Given the description of an element on the screen output the (x, y) to click on. 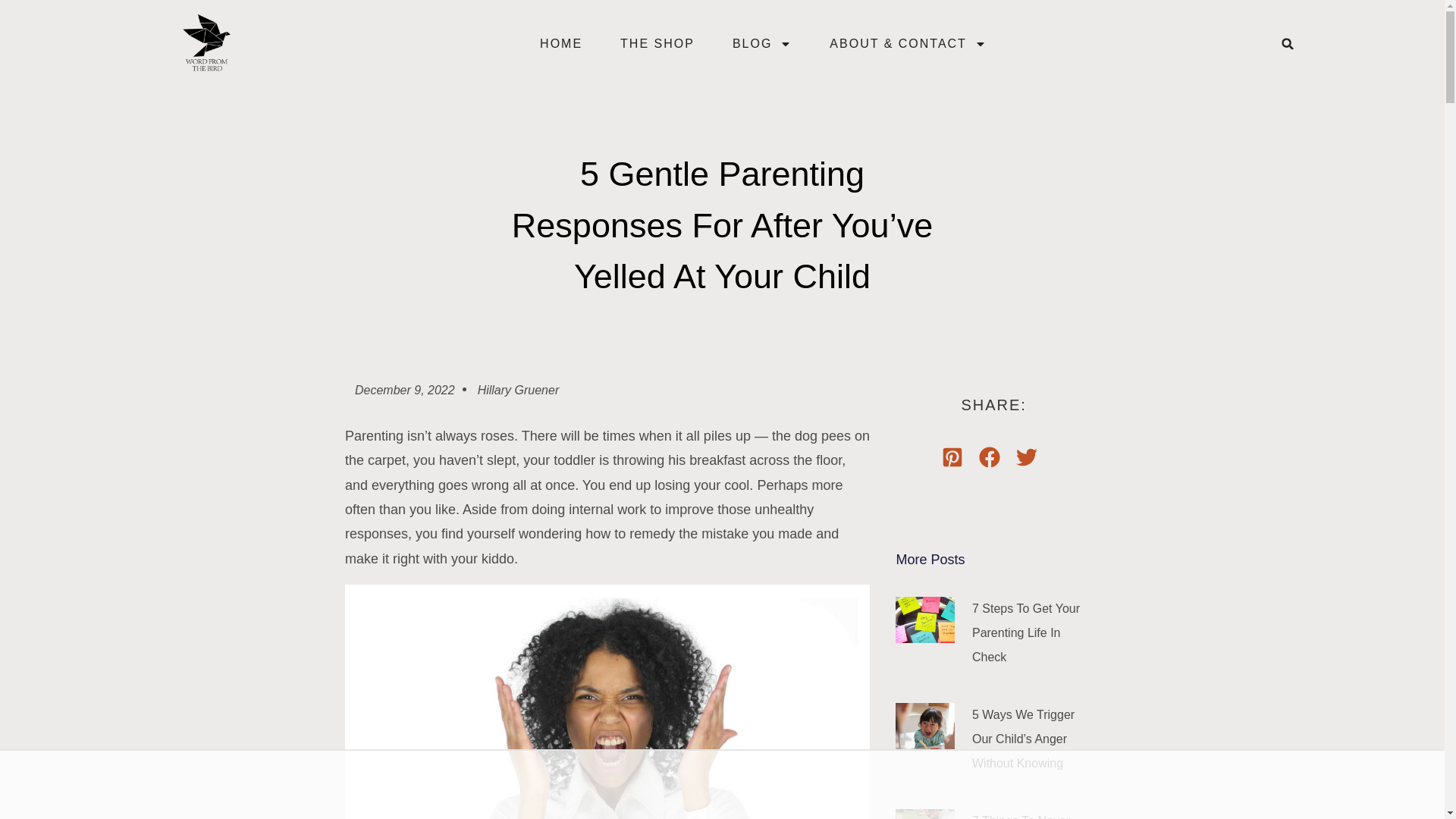
BLOG (762, 44)
THE SHOP (657, 44)
HOME (561, 44)
